Given the description of an element on the screen output the (x, y) to click on. 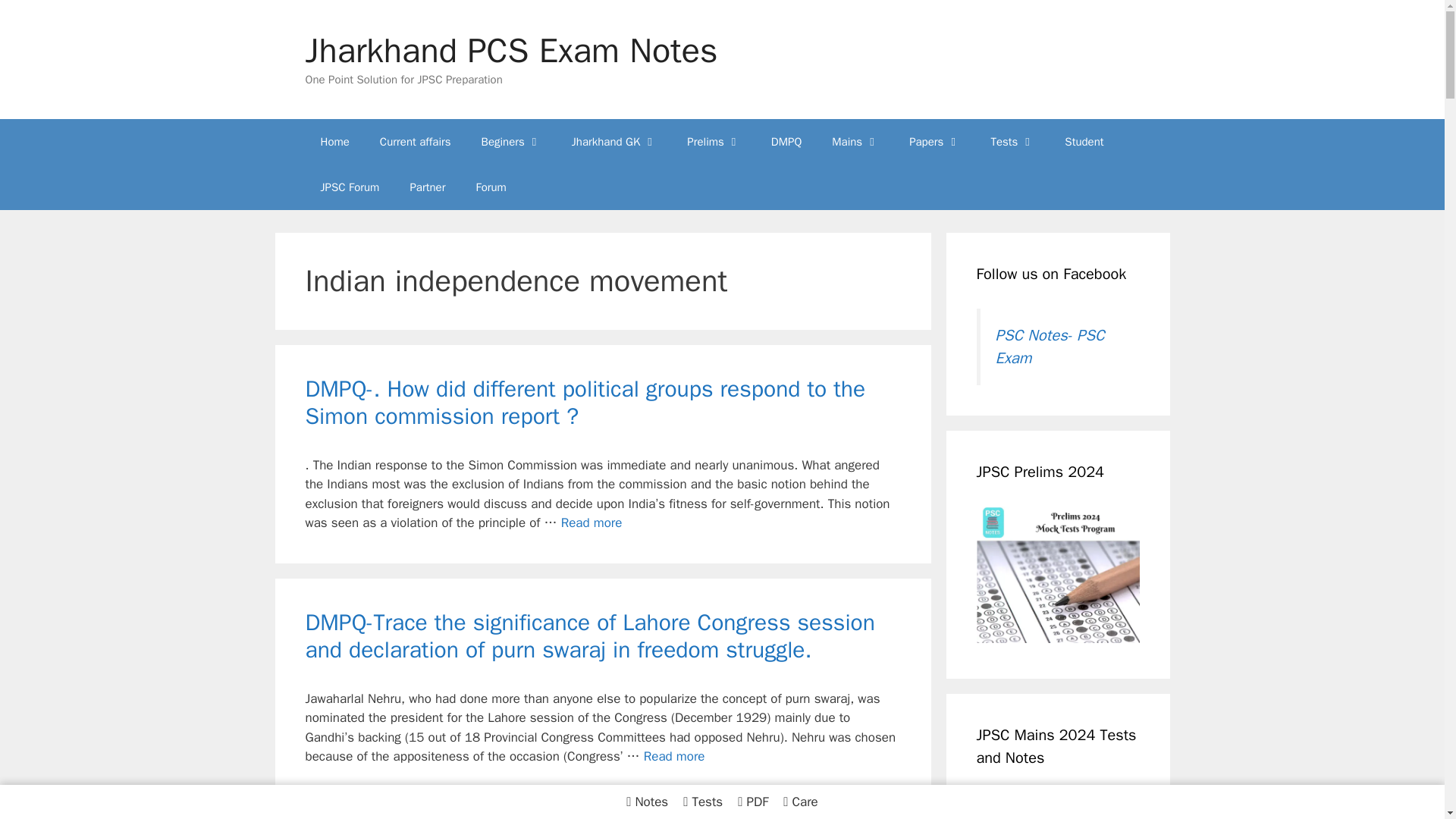
Beginers (510, 140)
Jharkhand GK (613, 140)
Prelims (713, 140)
Partner (427, 186)
Tests (1012, 140)
Home (334, 140)
Mains (854, 140)
Forum (490, 186)
Student (1083, 140)
